Given the description of an element on the screen output the (x, y) to click on. 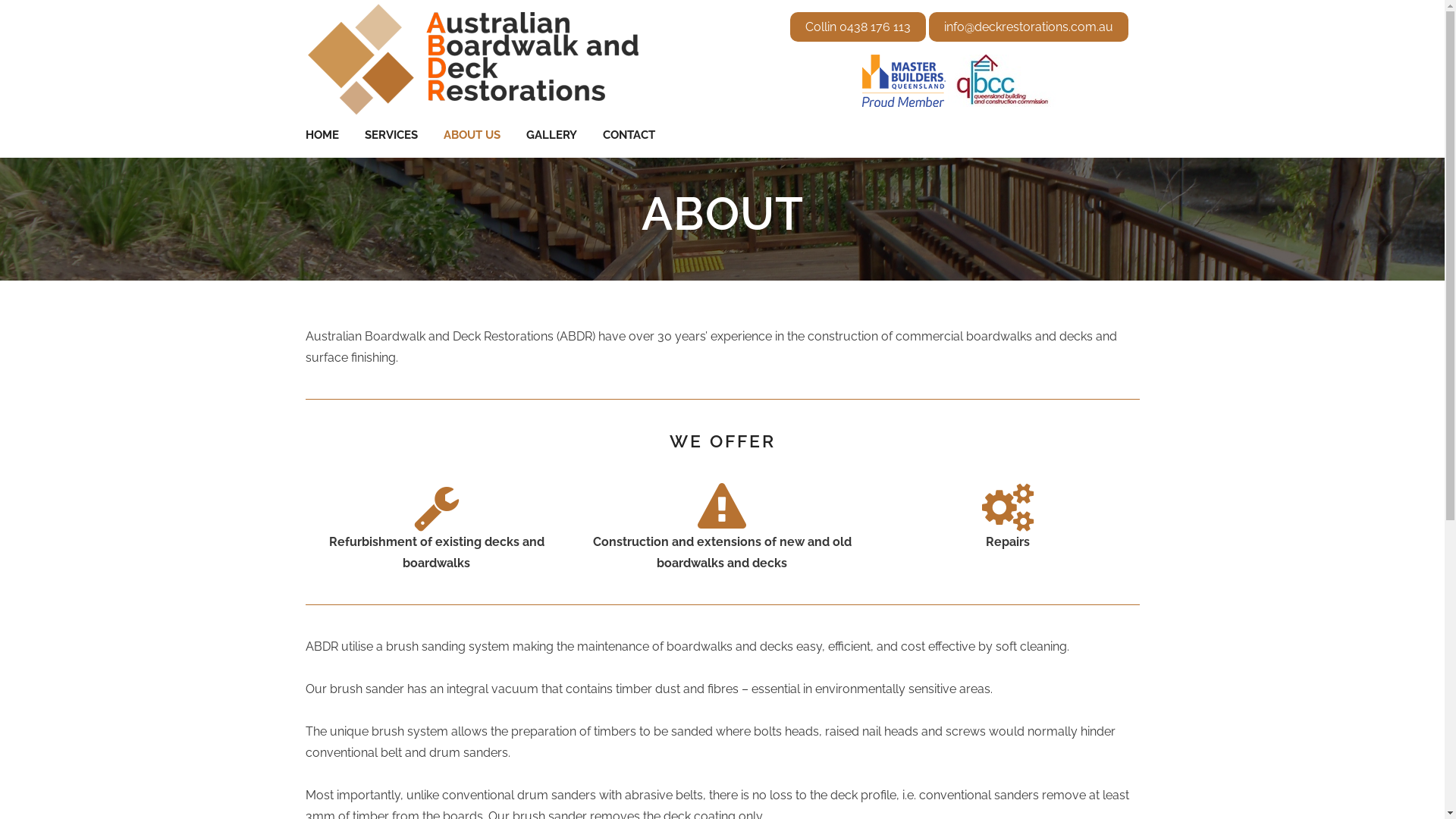
info@deckrestorations.com.au Element type: text (1027, 26)
HOME Element type: text (327, 134)
SERVICES Element type: text (390, 134)
GALLERY Element type: text (550, 134)
CONTACT Element type: text (628, 134)
ABOUT US Element type: text (471, 134)
Collin 0438 176 113 Element type: text (857, 26)
